Given the description of an element on the screen output the (x, y) to click on. 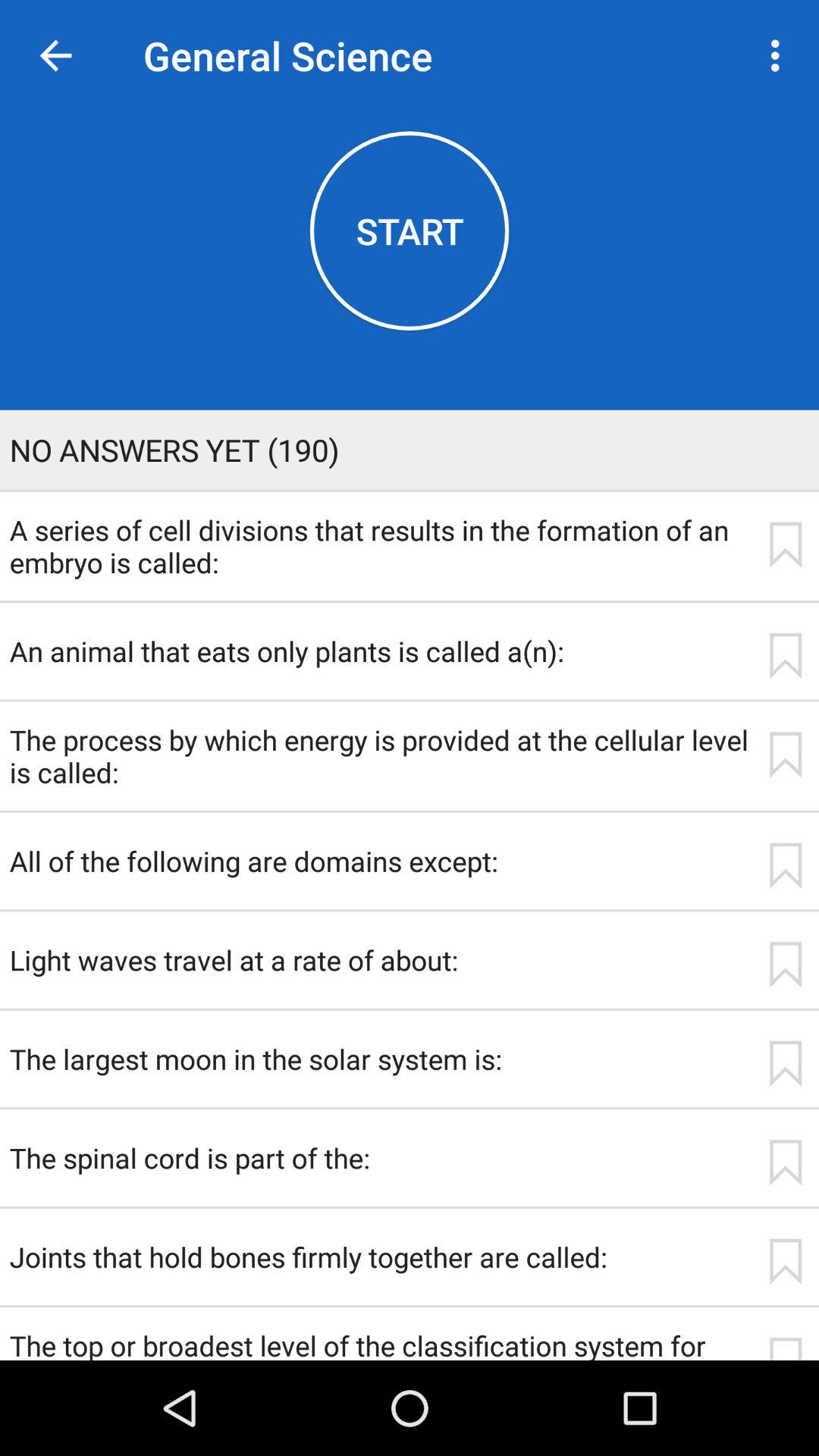
launch the icon to the left of the general science (55, 55)
